Given the description of an element on the screen output the (x, y) to click on. 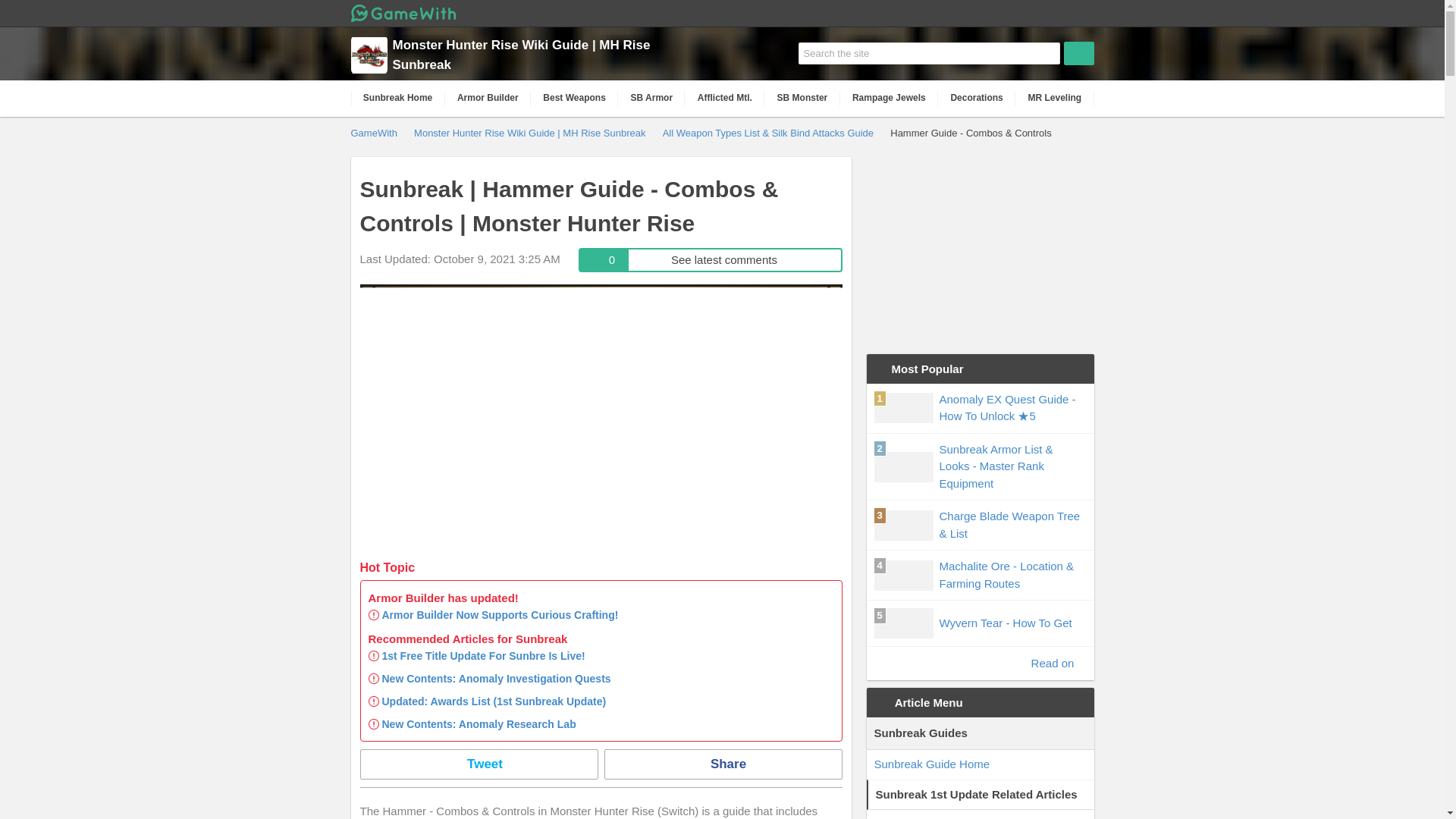
Armor Builder (488, 98)
Share (722, 764)
Decorations (975, 98)
Afflicted Mtl. (724, 98)
SB Monster (802, 98)
New Contents: Anomaly Investigation Quests (496, 678)
Armor Builder Now Supports Curious Crafting! (710, 259)
MR Leveling (499, 614)
SB Armor (1053, 98)
Sunbreak Home (650, 98)
Rampage Jewels (397, 98)
Tweet (888, 98)
Best Weapons (477, 764)
New Contents: Anomaly Research Lab (574, 98)
